Given the description of an element on the screen output the (x, y) to click on. 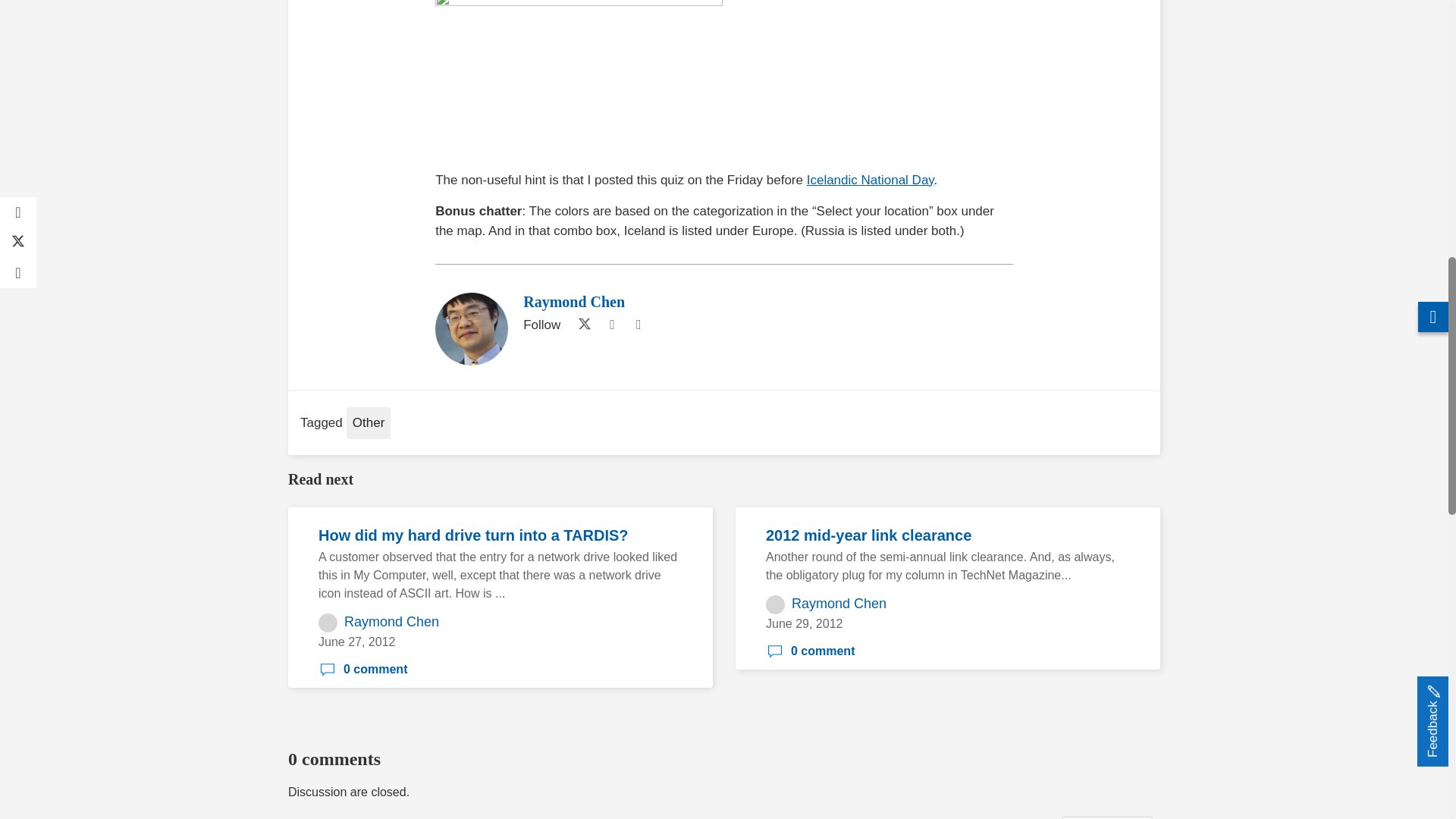
Twitter (581, 324)
RSS Feed (637, 324)
Github (611, 324)
